Given the description of an element on the screen output the (x, y) to click on. 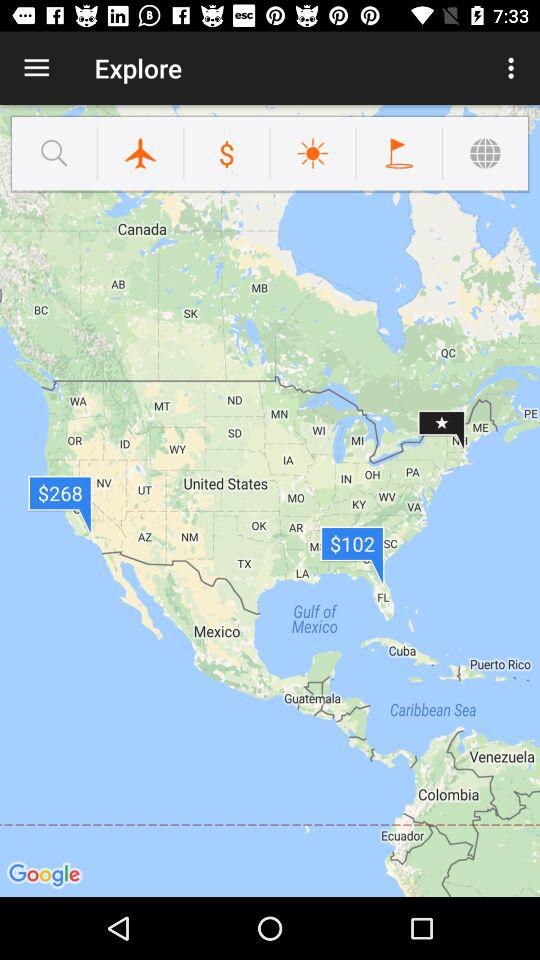
turn on item next to the explore (36, 68)
